Given the description of an element on the screen output the (x, y) to click on. 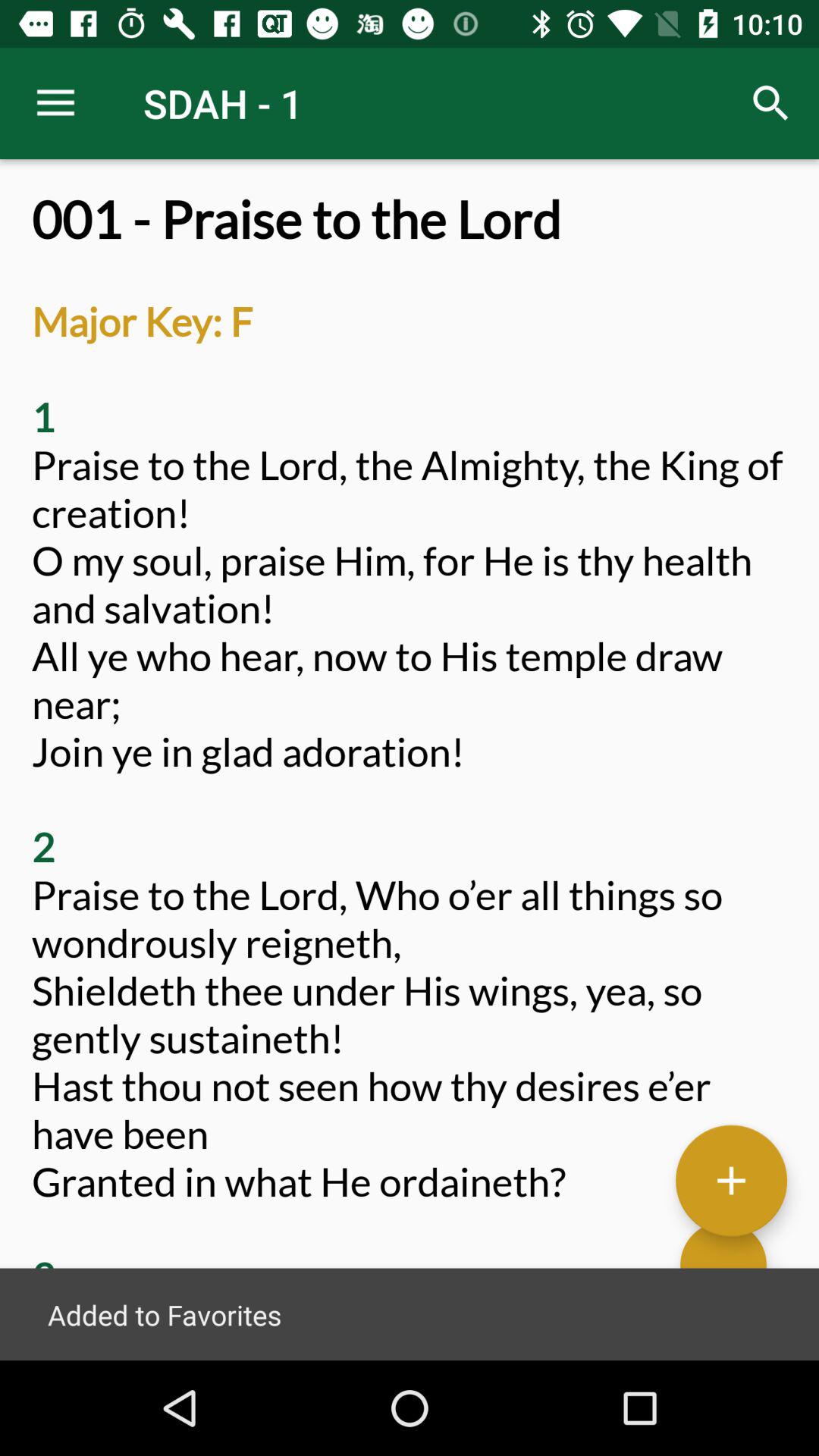
open icon above added to favorites (731, 1179)
